Given the description of an element on the screen output the (x, y) to click on. 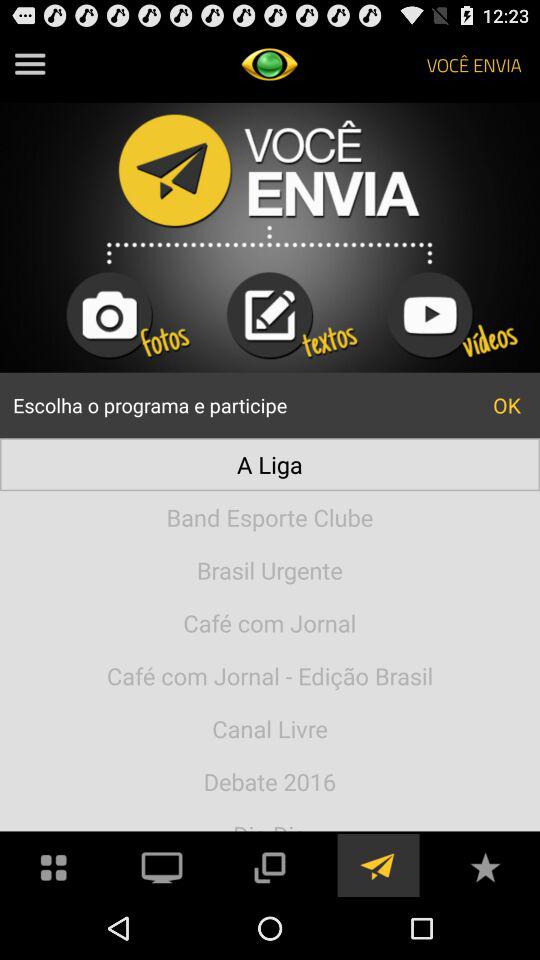
send (377, 865)
